Given the description of an element on the screen output the (x, y) to click on. 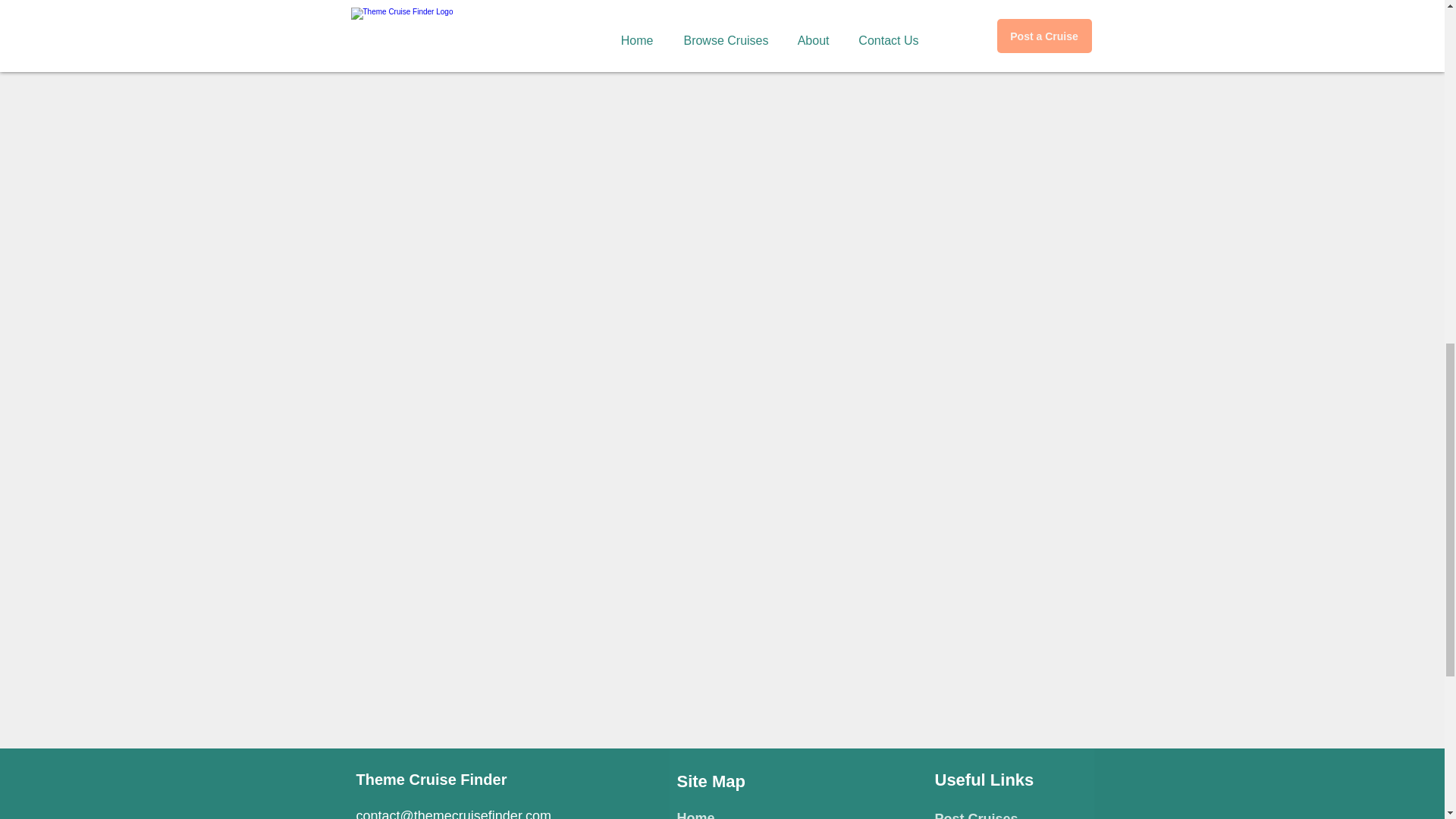
Post Cruises (975, 815)
Theme Cruise Finder (431, 779)
Home (695, 814)
